Given the description of an element on the screen output the (x, y) to click on. 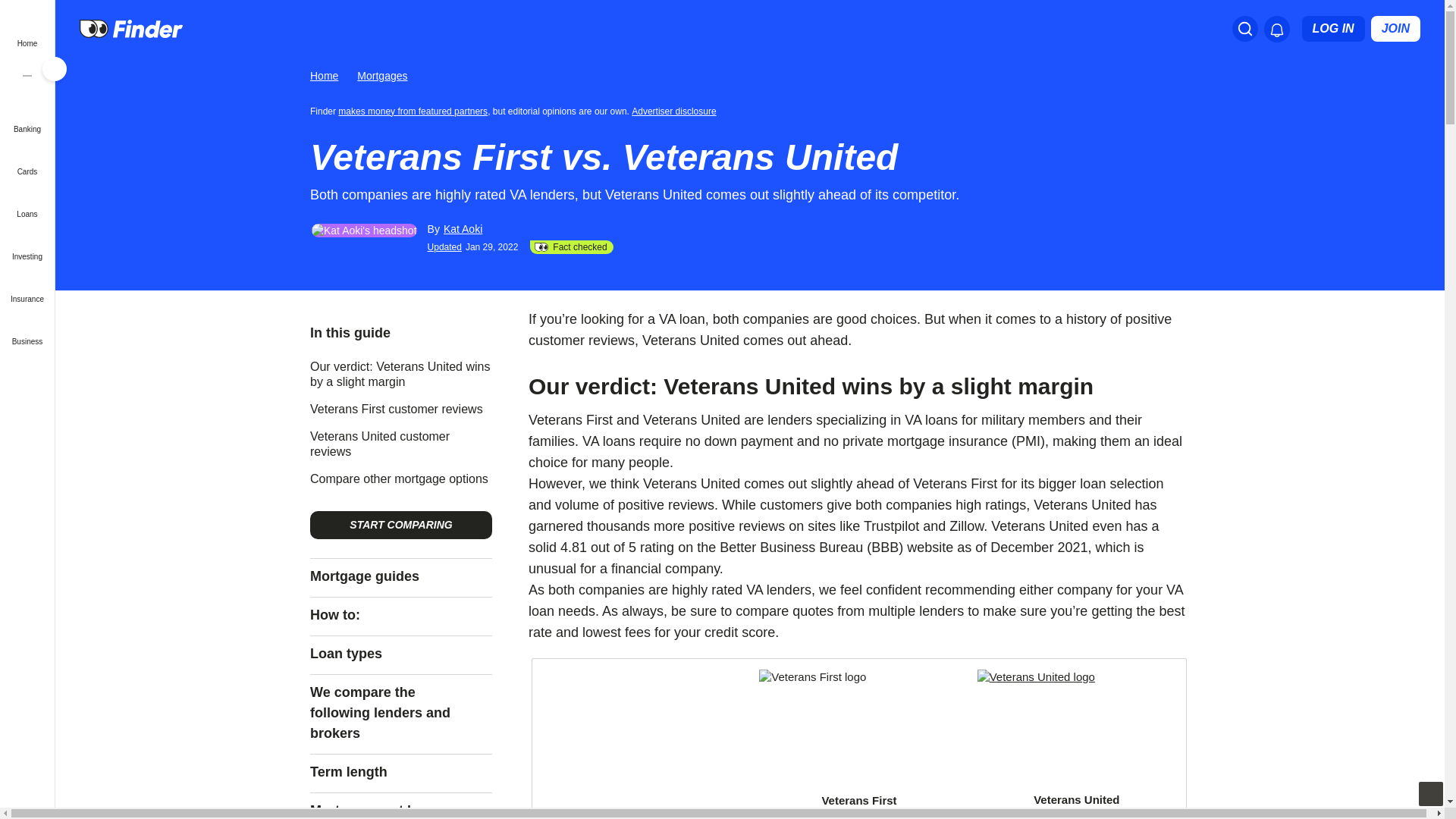
Go to Veterans United (1076, 724)
